Given the description of an element on the screen output the (x, y) to click on. 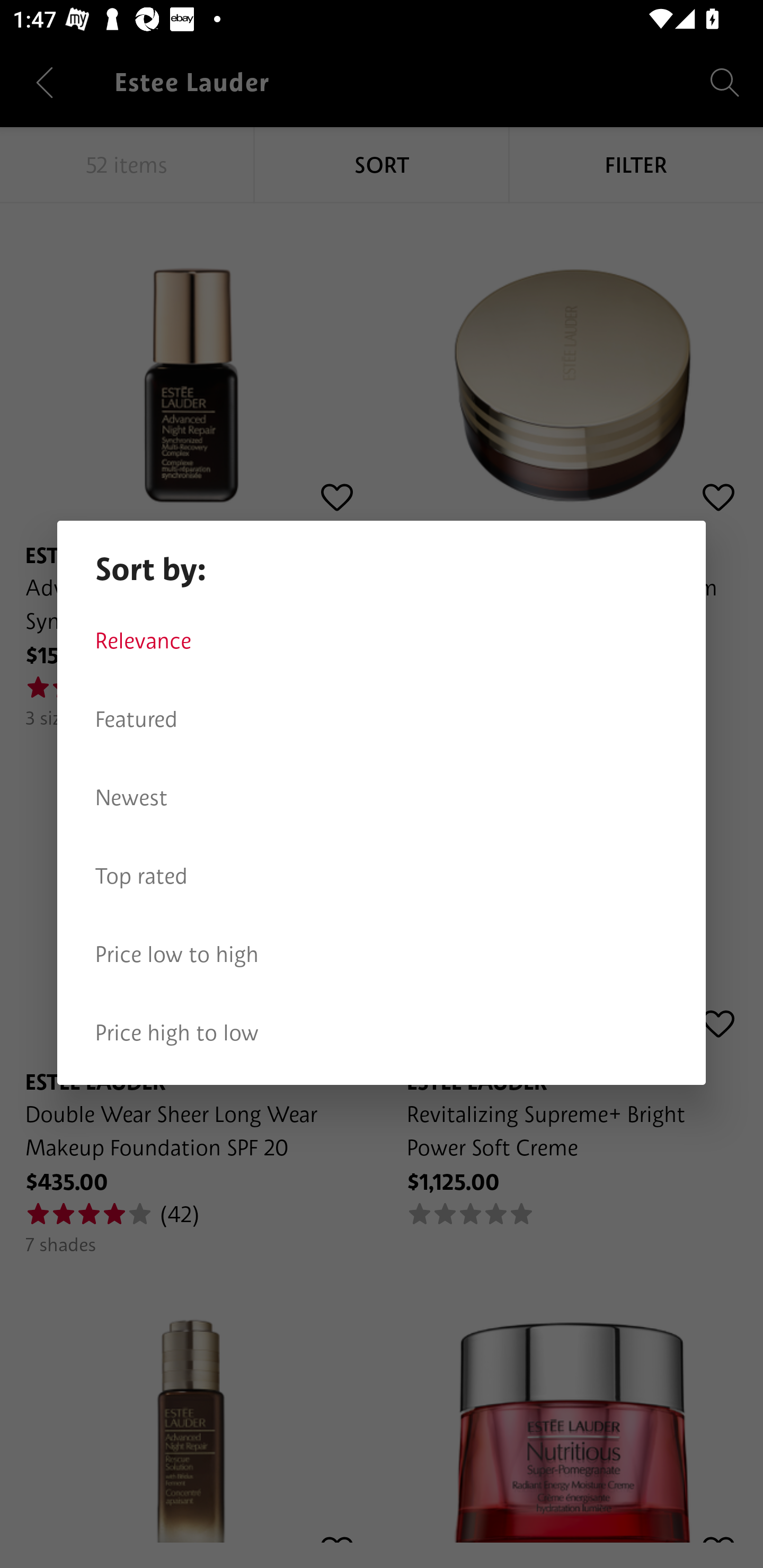
Relevance (381, 641)
Featured (381, 719)
Newest (381, 797)
Top rated (381, 876)
Price low to high (381, 954)
Price high to low (381, 1033)
